Given the description of an element on the screen output the (x, y) to click on. 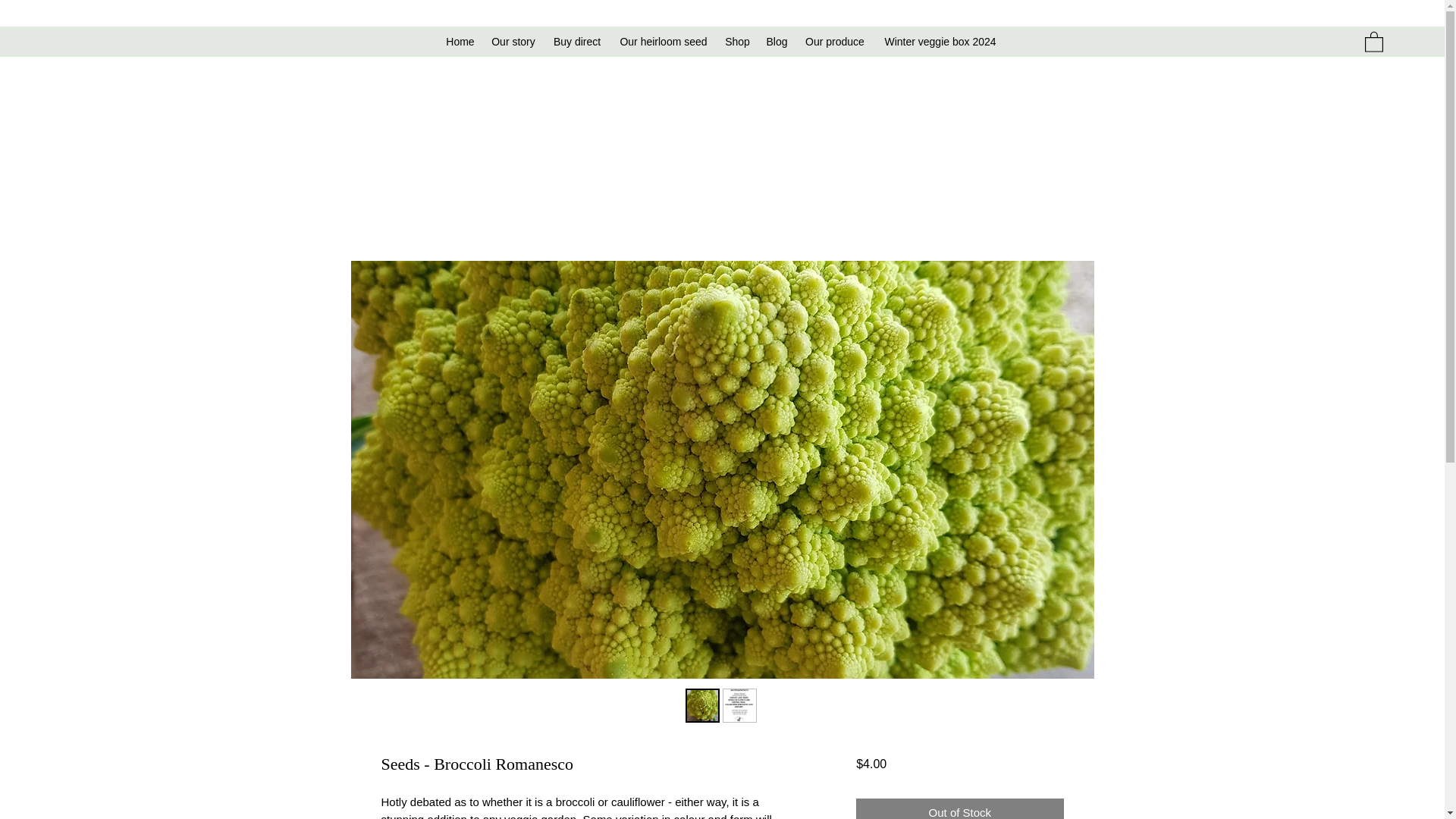
Our heirloom seed (663, 41)
Our produce (835, 41)
Shop (737, 41)
Blog (777, 41)
Buy direct (577, 41)
Our story (512, 41)
Out of Stock (959, 808)
Home (460, 41)
Winter veggie box 2024 (939, 41)
